Given the description of an element on the screen output the (x, y) to click on. 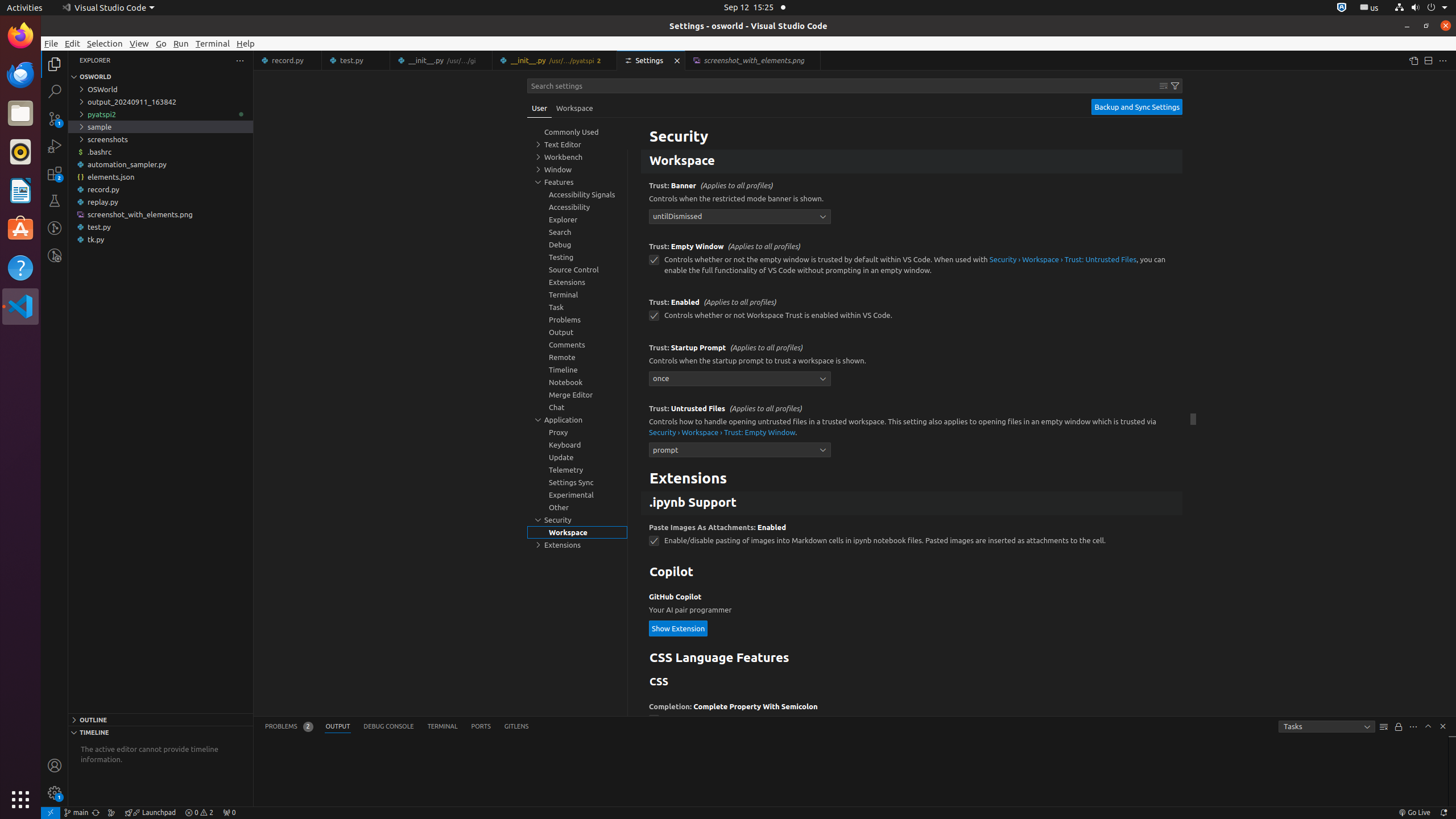
Other, group Element type: tree-item (577, 507)
Close (Ctrl+W) Element type: push-button (812, 60)
Security, group Element type: tree-item (577, 519)
Notifications Element type: push-button (1443, 812)
GitLens Inspect Element type: page-tab (54, 255)
